Given the description of an element on the screen output the (x, y) to click on. 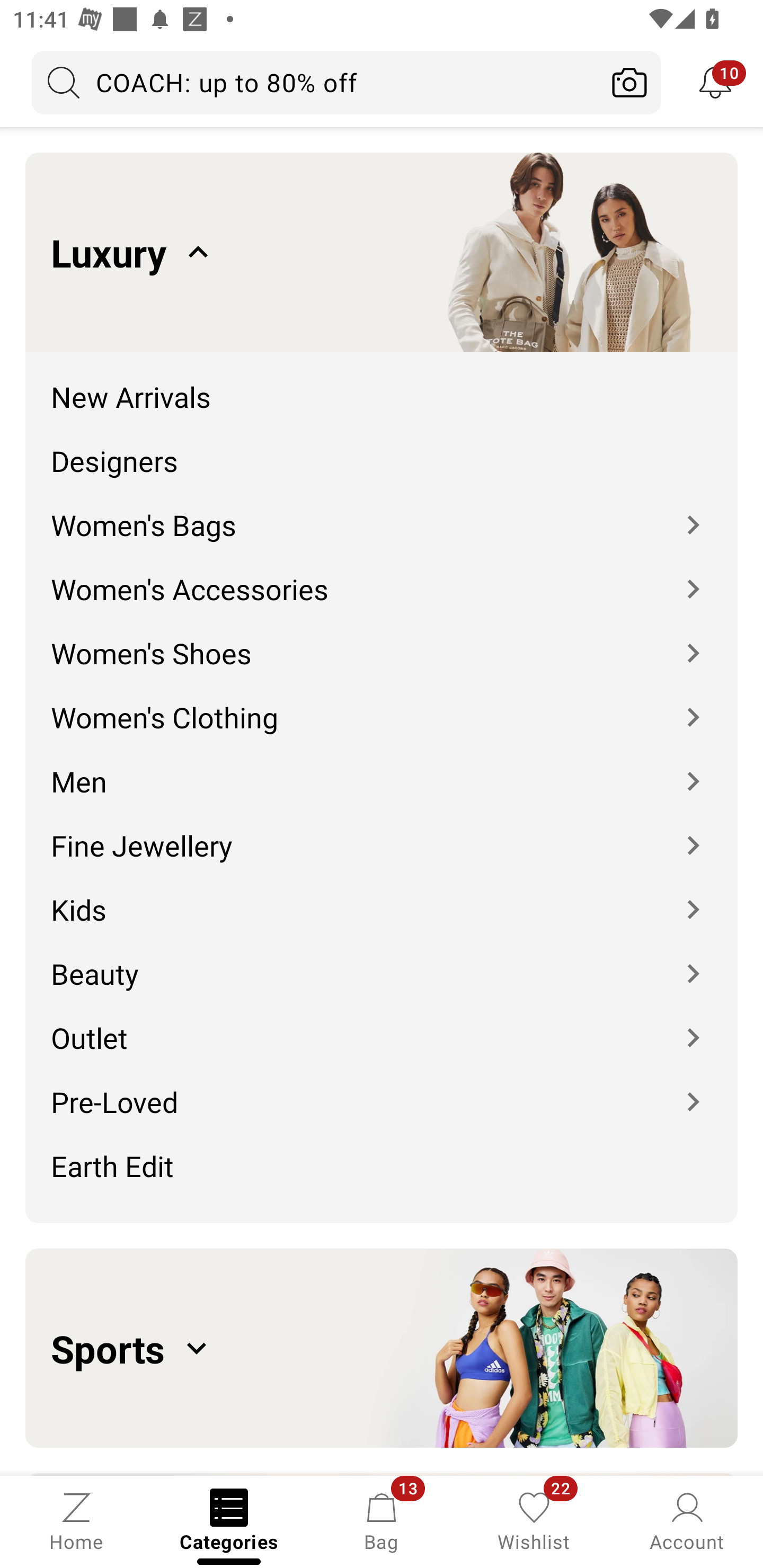
COACH: up to 80% off (314, 82)
Luxury (381, 251)
New Arrivals (381, 383)
Designers (381, 447)
Women's Bags (381, 511)
Women's Accessories (381, 576)
Women's Shoes (381, 640)
Women's Clothing (381, 704)
Men (381, 767)
Fine Jewellery (381, 831)
Kids (381, 895)
Beauty (381, 960)
Outlet (381, 1024)
Pre-Loved (381, 1088)
Earth Edit (381, 1172)
Sports (381, 1347)
Home (76, 1519)
Bag, 13 new notifications Bag (381, 1519)
Wishlist, 22 new notifications Wishlist (533, 1519)
Account (686, 1519)
